Given the description of an element on the screen output the (x, y) to click on. 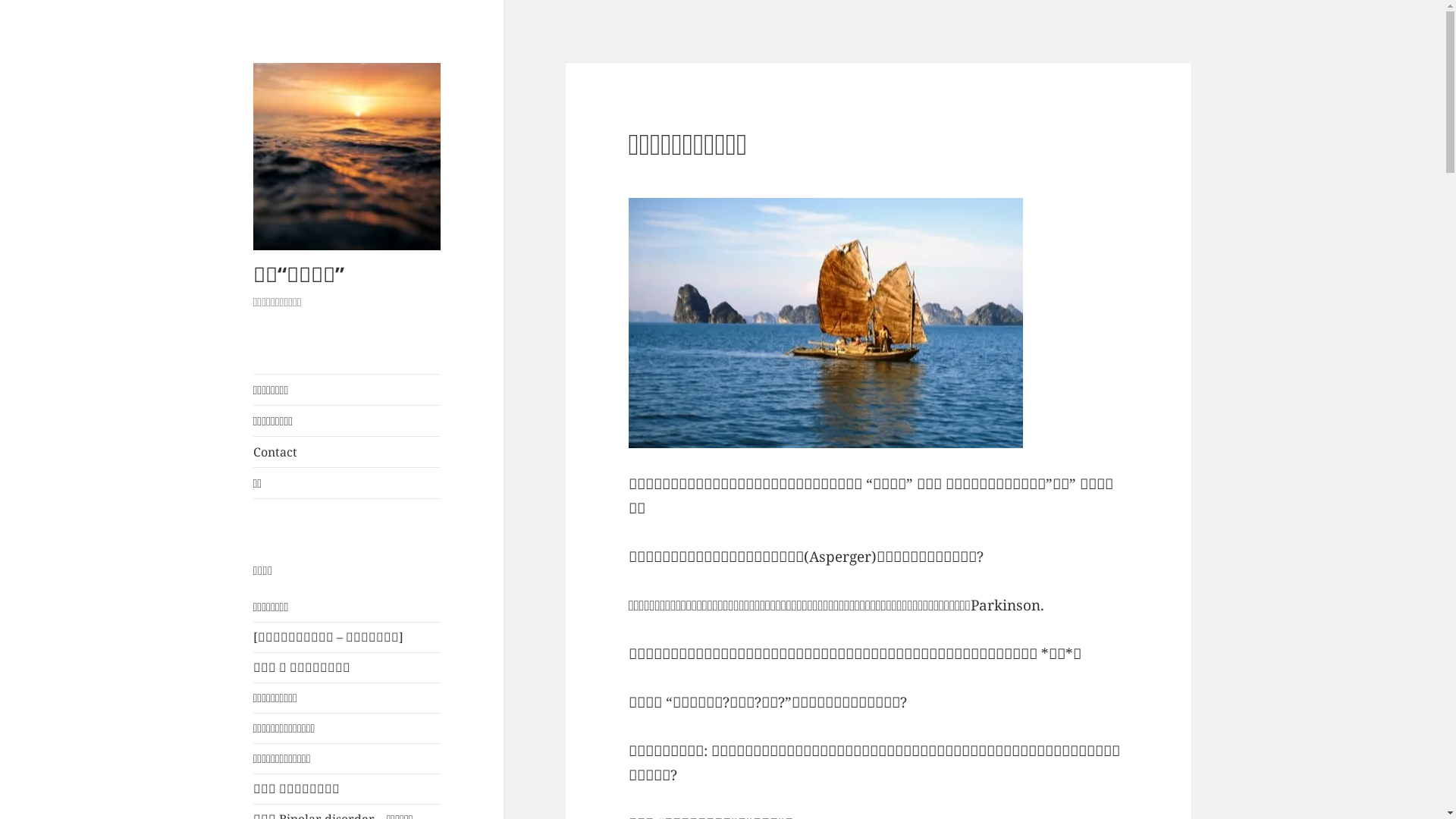
Contact Element type: text (347, 451)
